Given the description of an element on the screen output the (x, y) to click on. 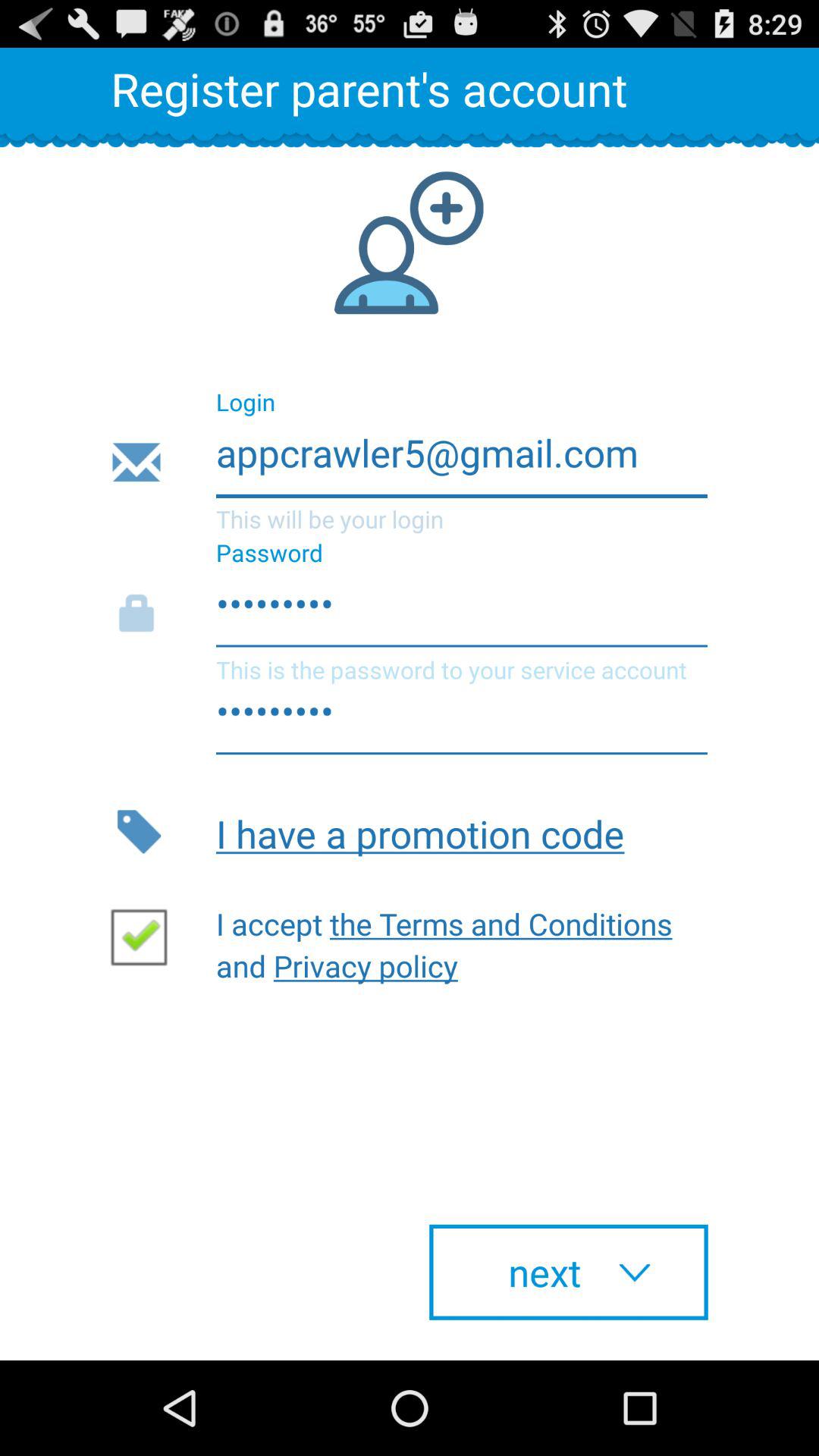
launch button above the next item (451, 940)
